Given the description of an element on the screen output the (x, y) to click on. 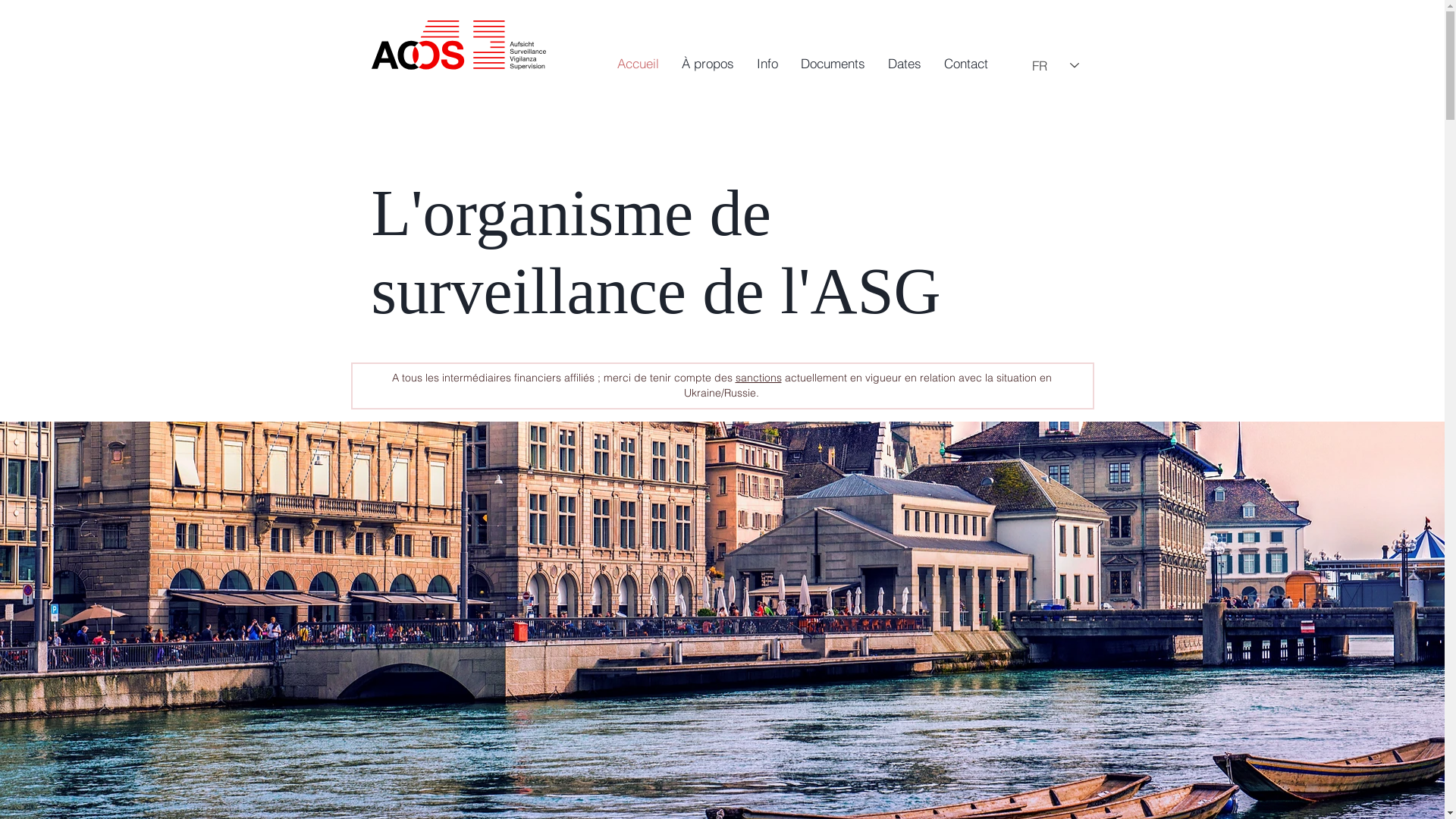
sanctions Element type: text (758, 377)
Info Element type: text (766, 63)
Documents Element type: text (831, 63)
Dates Element type: text (904, 63)
Contact Element type: text (965, 63)
Accueil Element type: text (637, 63)
